Given the description of an element on the screen output the (x, y) to click on. 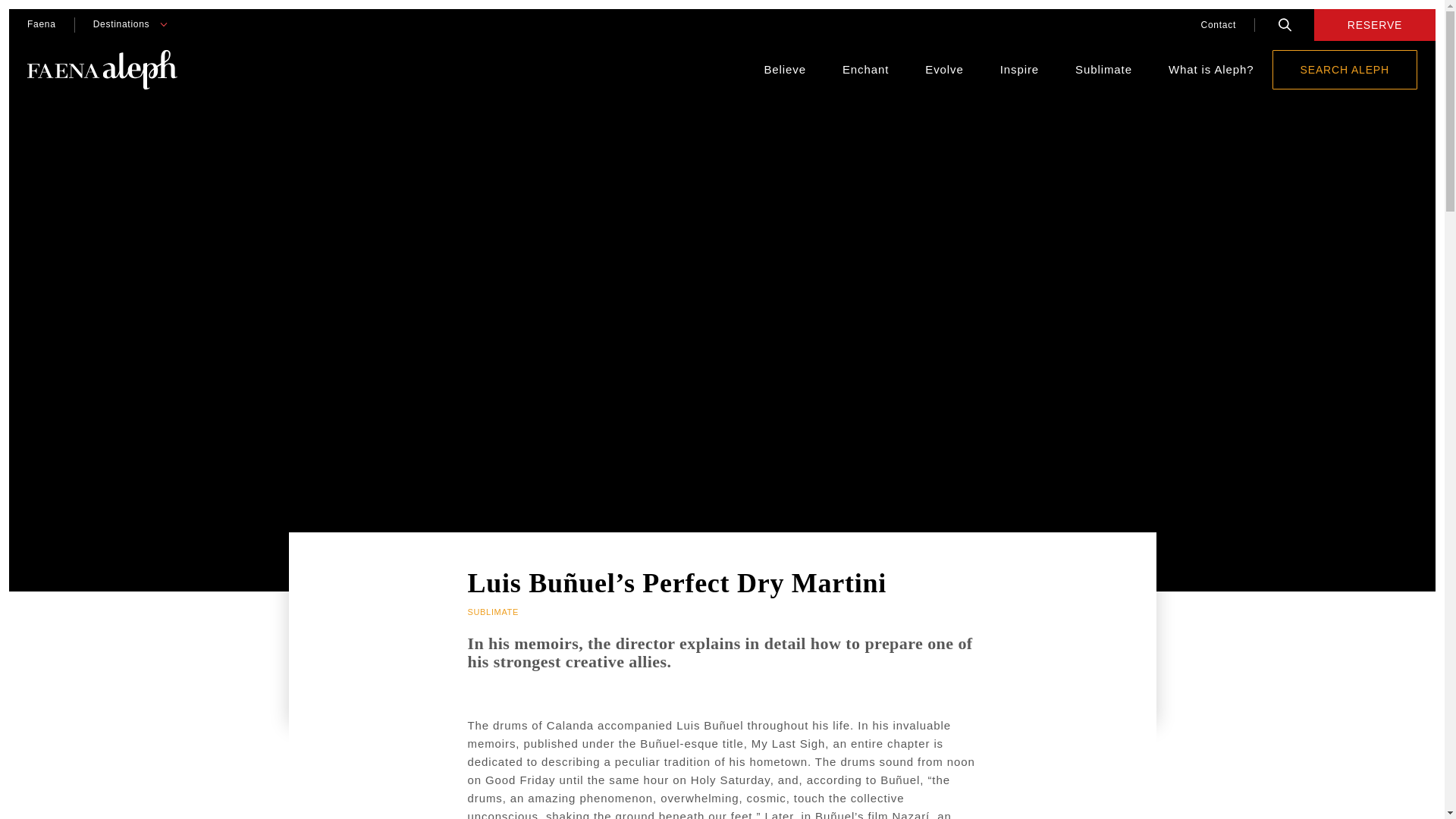
Destinations (121, 23)
Contact (1217, 24)
Enchant (865, 69)
What is Aleph? (1211, 69)
Believe (784, 69)
SEARCH ALEPH (1344, 69)
Inspire (1019, 69)
Sublimate (1103, 69)
Faena (41, 23)
Evolve (943, 69)
Search (1284, 24)
